Given the description of an element on the screen output the (x, y) to click on. 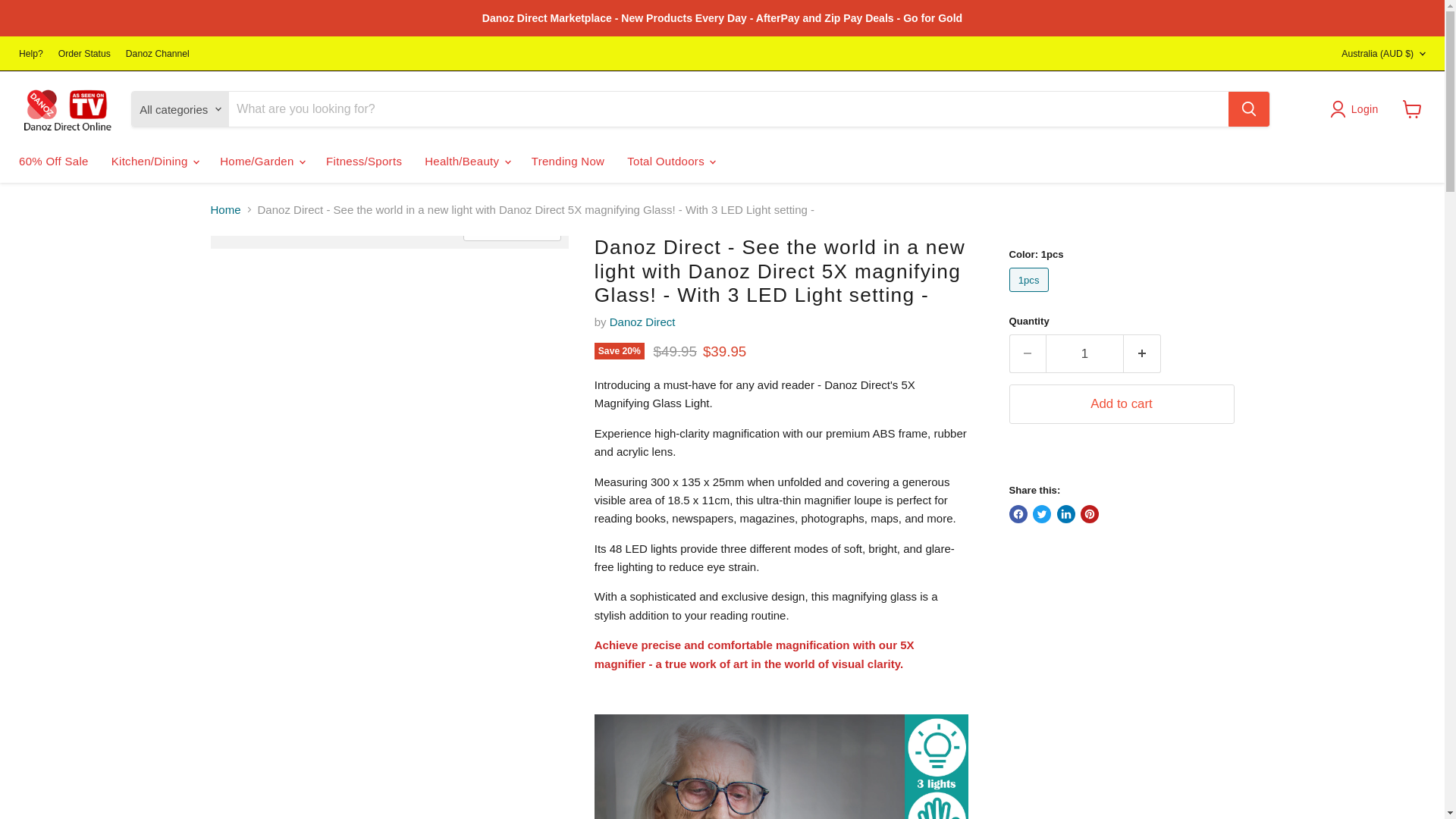
Help? (30, 53)
Order Status (84, 53)
Danoz Channel (157, 53)
1 (1084, 353)
Danoz Direct (642, 321)
